Given the description of an element on the screen output the (x, y) to click on. 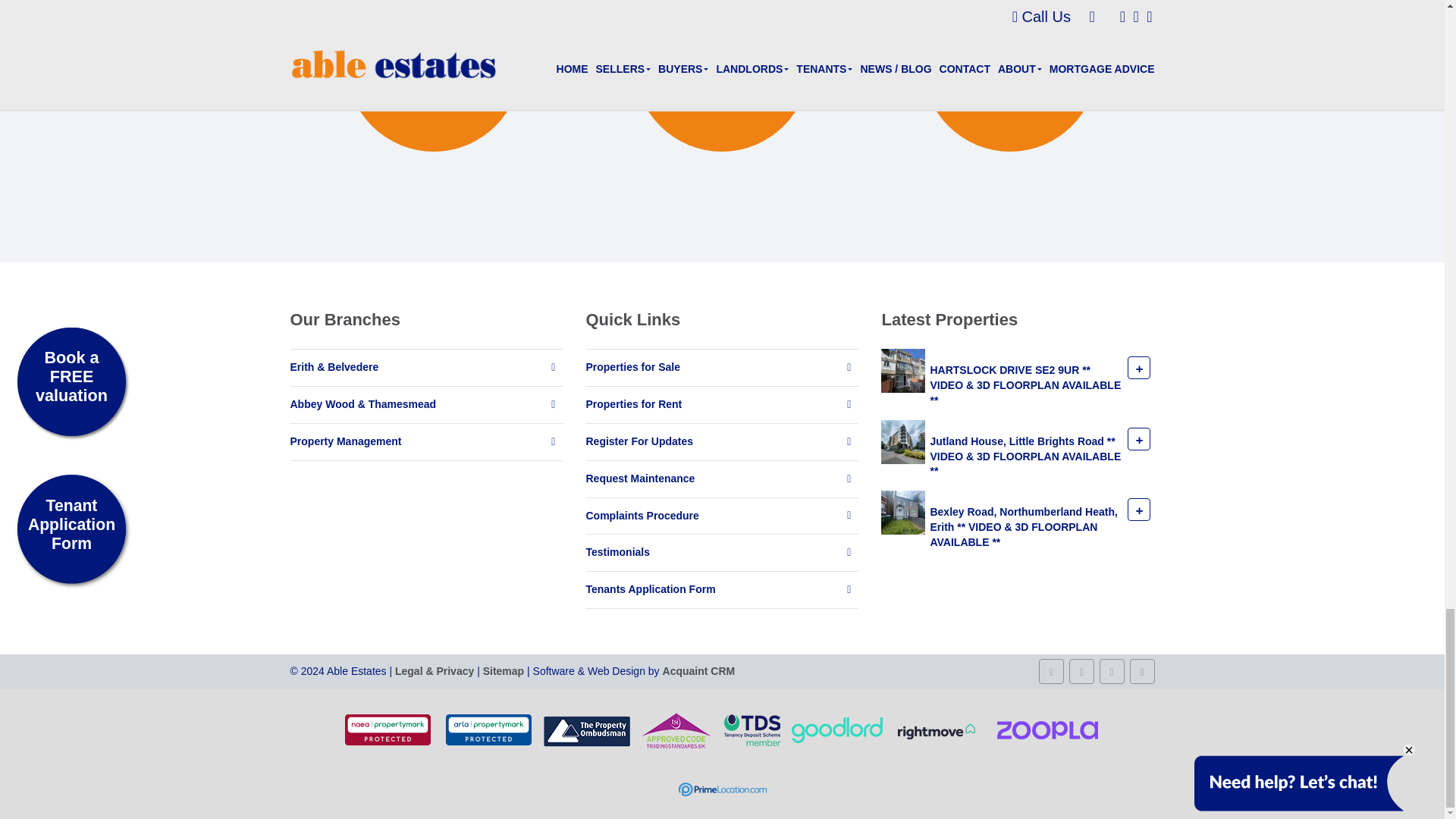
Property For Sale Hartslock Drive, Abbey Wood, London (902, 369)
Property For Sale Bexley Road, Northumberland Heath, Erith (902, 511)
